Given the description of an element on the screen output the (x, y) to click on. 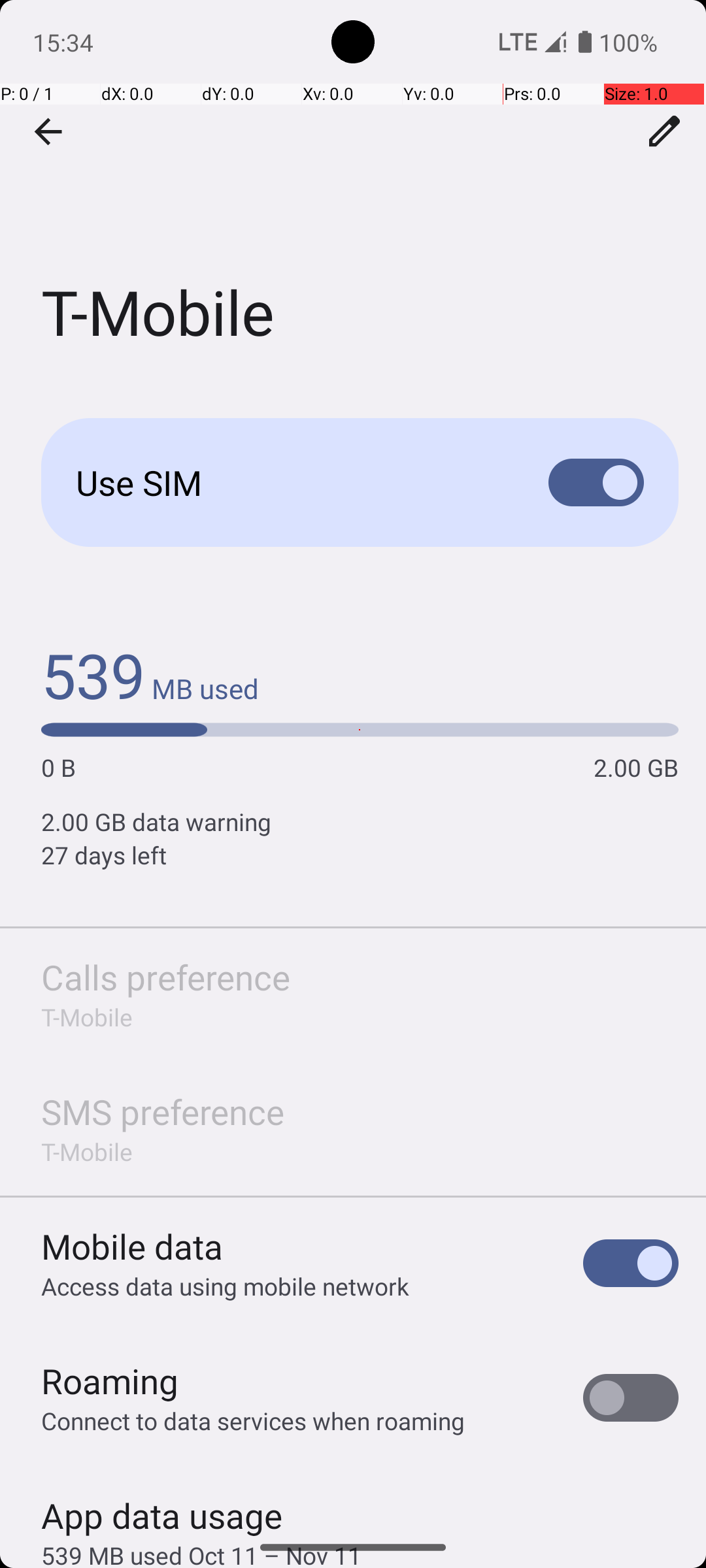
SIM name & color Element type: android.widget.TextView (664, 131)
Use SIM Element type: android.widget.TextView (291, 482)
539 MB used Element type: android.widget.TextView (149, 674)
2.00 GB Element type: android.widget.TextView (635, 767)
2.00 GB data warning Element type: android.widget.TextView (359, 821)
27 days left Element type: android.widget.TextView (359, 854)
Calls preference Element type: android.widget.TextView (165, 976)
SMS preference Element type: android.widget.TextView (163, 1111)
Mobile data Element type: android.widget.TextView (131, 1246)
Access data using mobile network Element type: android.widget.TextView (225, 1285)
Roaming Element type: android.widget.TextView (109, 1380)
Connect to data services when roaming Element type: android.widget.TextView (252, 1420)
App data usage Element type: android.widget.TextView (161, 1509)
